Given the description of an element on the screen output the (x, y) to click on. 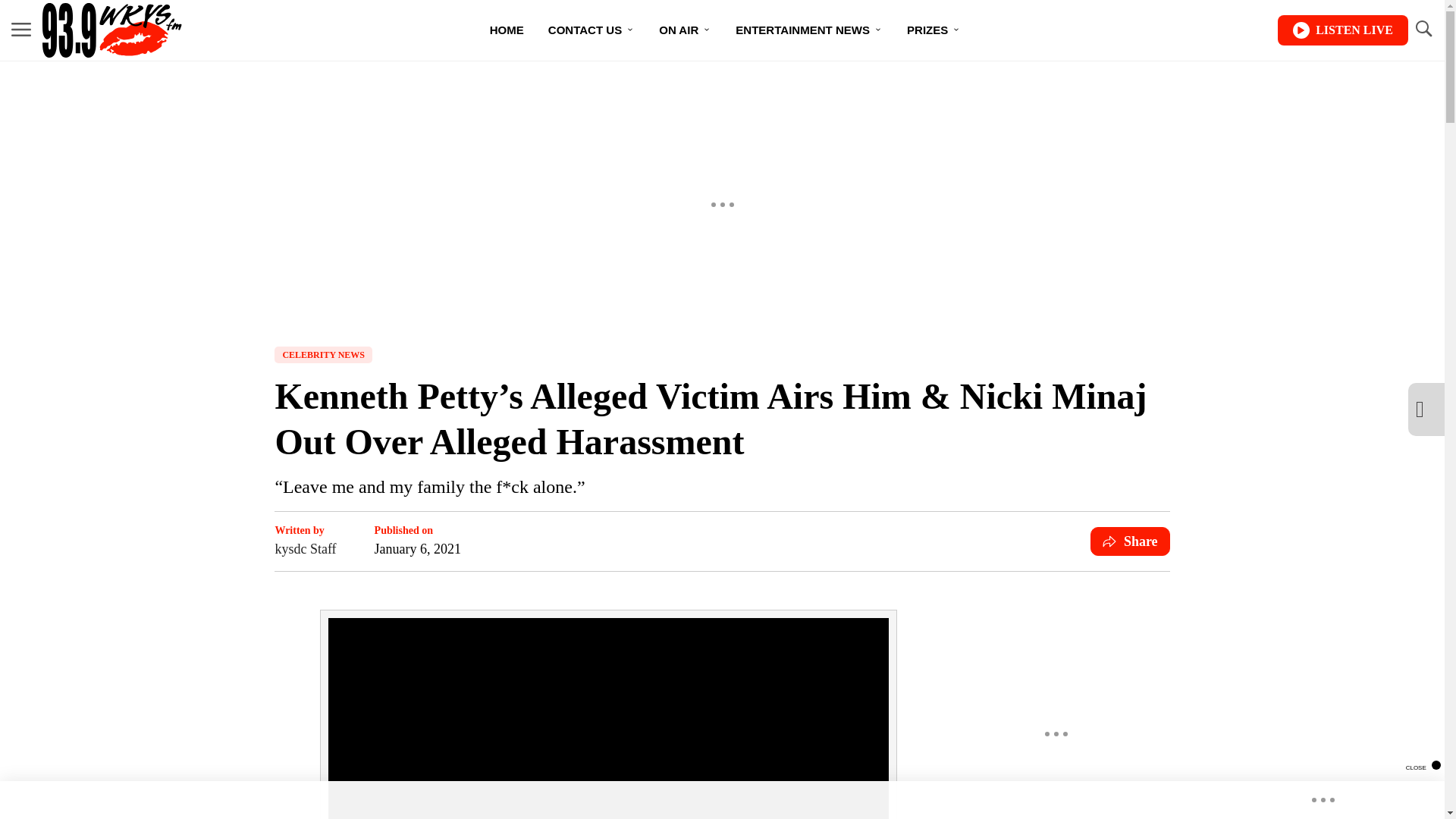
HOME (506, 30)
PRIZES (933, 30)
LISTEN LIVE (1342, 30)
MENU (20, 29)
ENTERTAINMENT NEWS (809, 30)
TOGGLE SEARCH (1422, 30)
MENU (20, 30)
kysdc Staff (305, 548)
TOGGLE SEARCH (1422, 28)
CELEBRITY NEWS (323, 354)
